Given the description of an element on the screen output the (x, y) to click on. 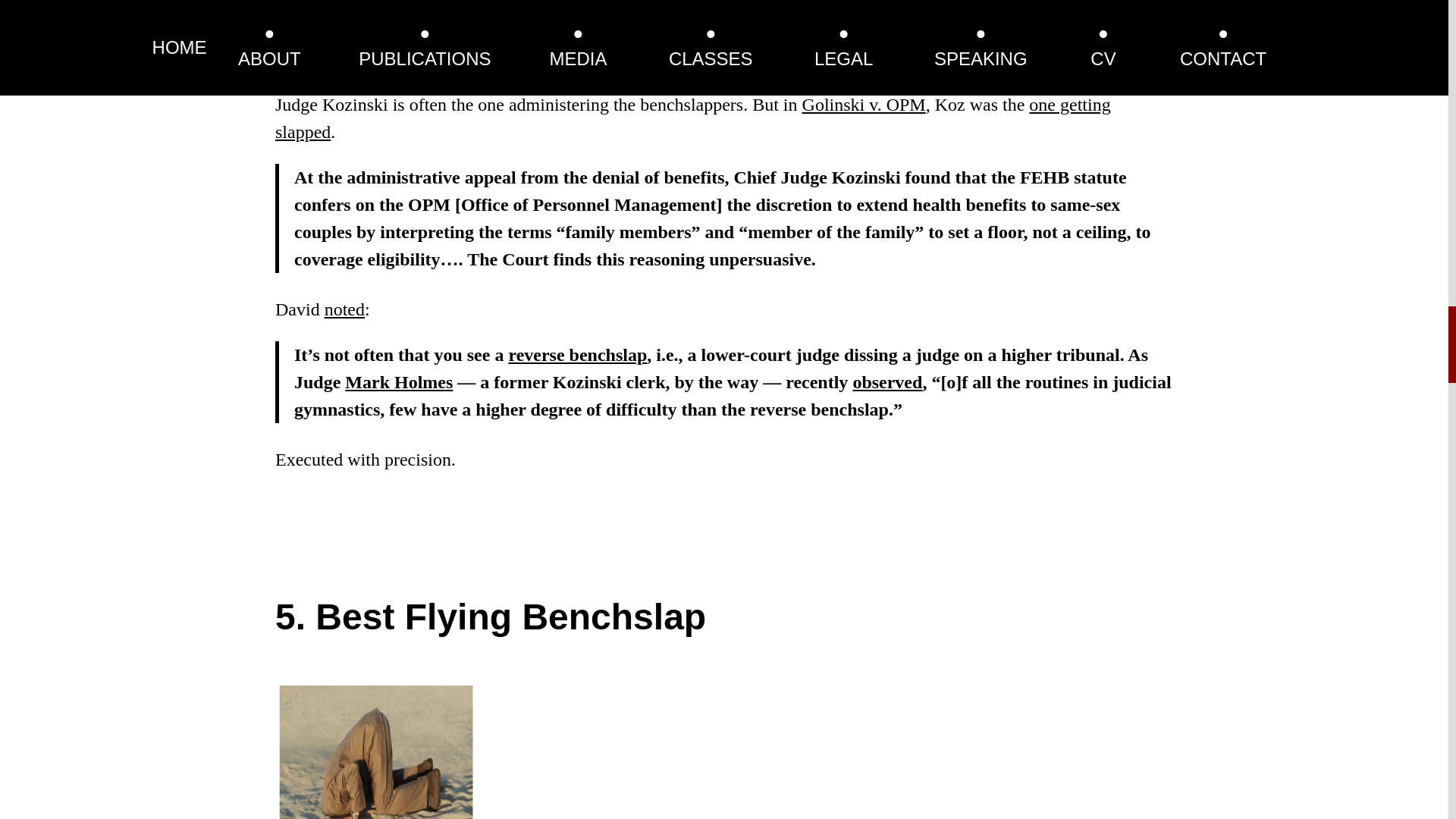
observed (886, 382)
noted (344, 309)
one getting slapped (692, 118)
Mark Holmes (398, 382)
David Lat (580, 13)
reverse benchslap (577, 354)
Golinski v. OPM (864, 104)
